Given the description of an element on the screen output the (x, y) to click on. 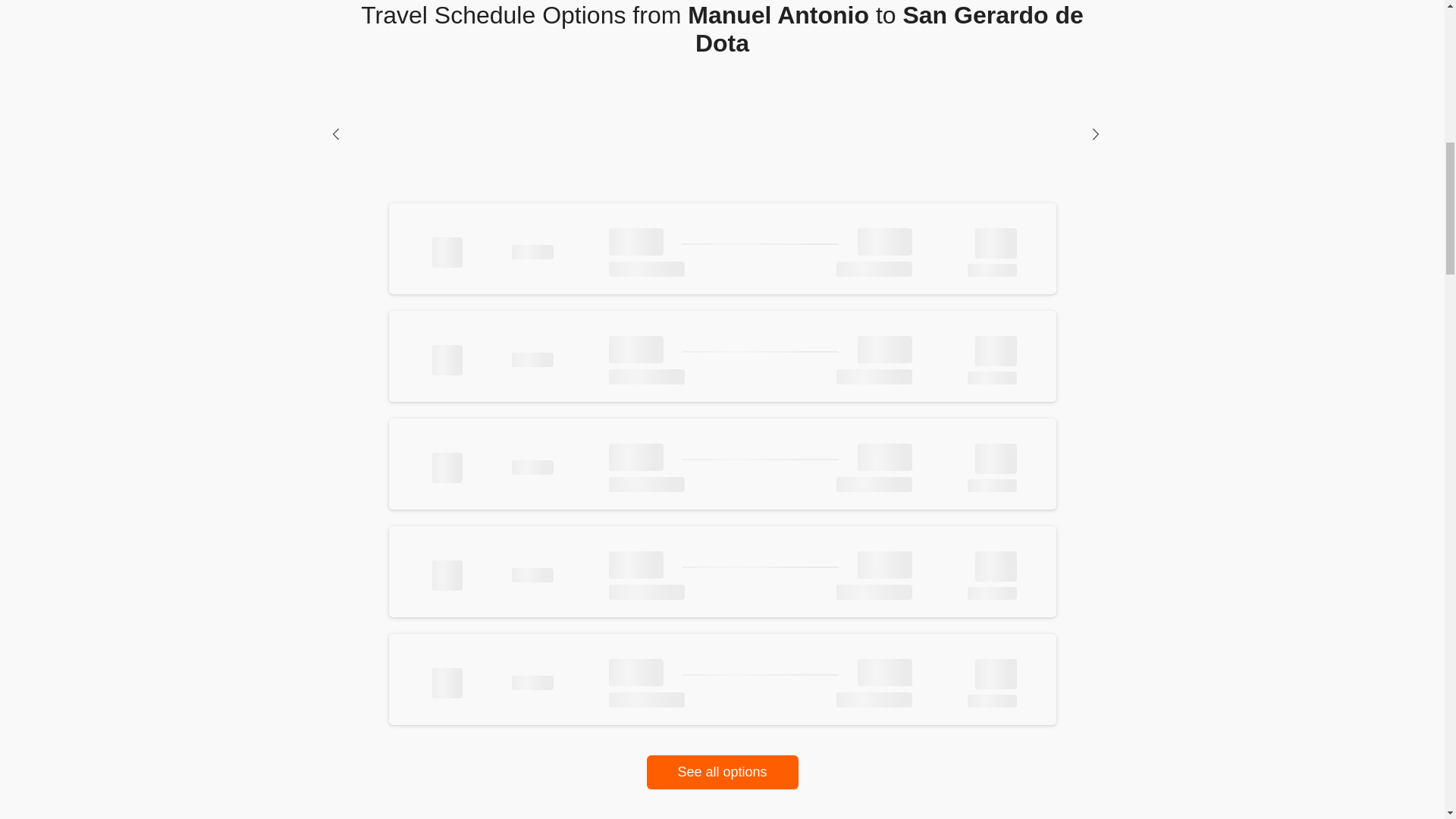
See all options (721, 772)
